Given the description of an element on the screen output the (x, y) to click on. 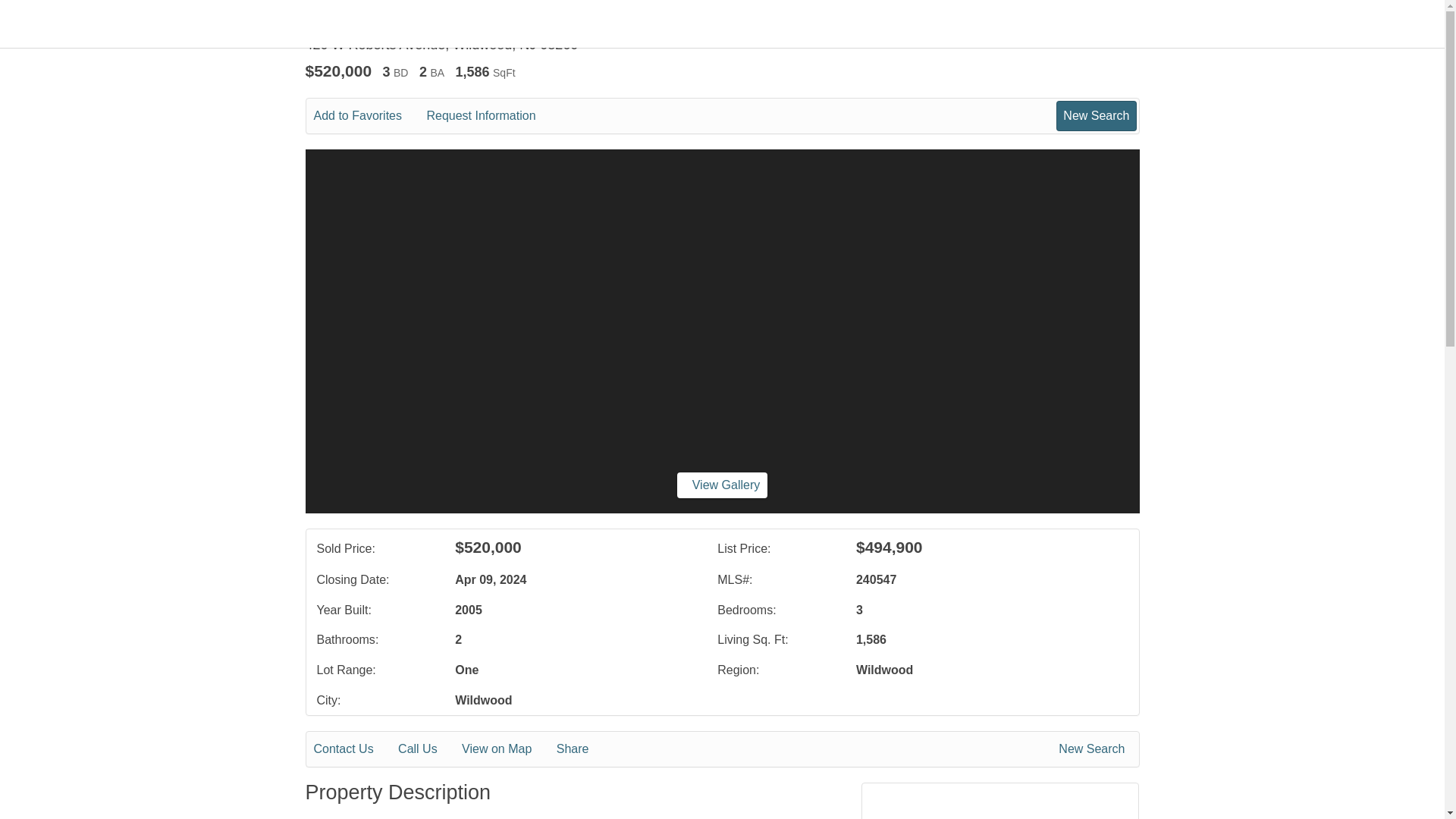
New Search (1094, 748)
Contact Us (354, 748)
View on Map (507, 748)
Add to Favorites (368, 115)
Share (583, 748)
New Search (1096, 115)
Request Information (491, 115)
609-408-4656 (1000, 816)
View Gallery (722, 484)
View Gallery (722, 484)
